Given the description of an element on the screen output the (x, y) to click on. 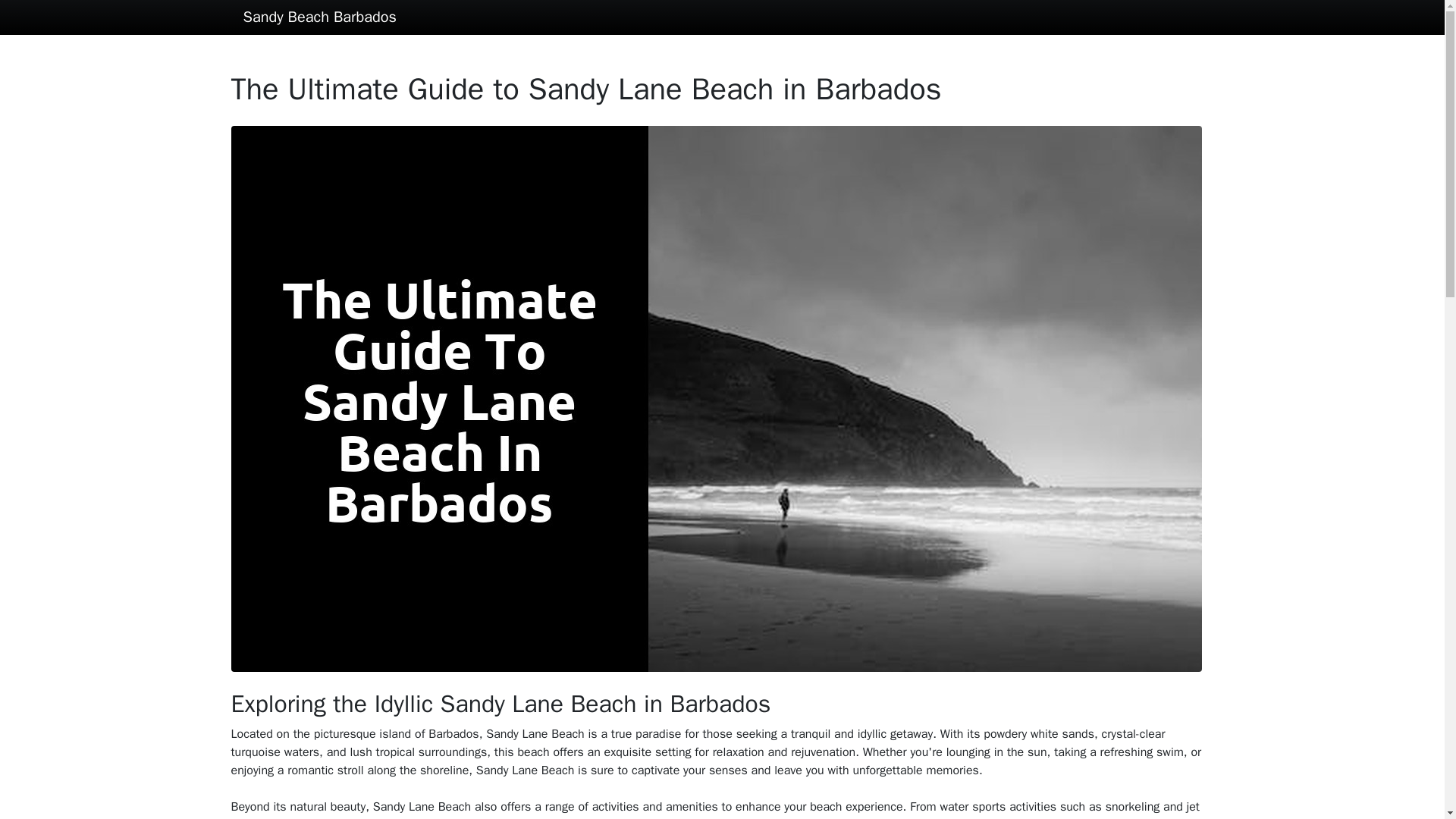
Sandy Beach Barbados (319, 16)
